Given the description of an element on the screen output the (x, y) to click on. 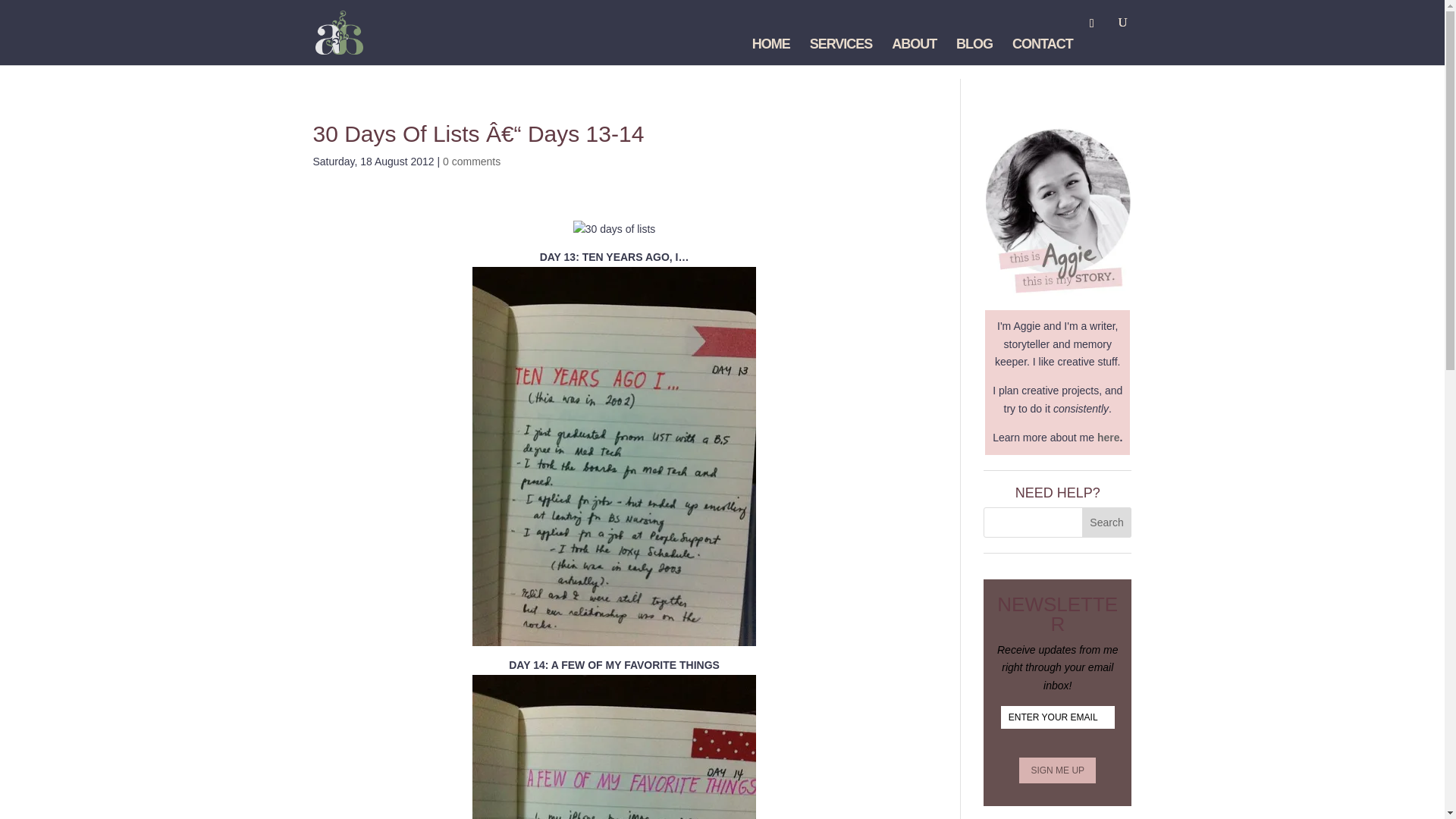
SIGN ME UP (1057, 769)
here (1108, 437)
Search (1106, 521)
BLOG (974, 51)
0 comments (471, 161)
HOME (771, 51)
Day 13 by aggietha, on Flickr (613, 635)
ENTER YOUR EMAIL (1058, 716)
CONTACT (1042, 51)
ABOUT (913, 51)
SERVICES (840, 51)
SIGN ME UP (1057, 769)
Search (1106, 521)
